Given the description of an element on the screen output the (x, y) to click on. 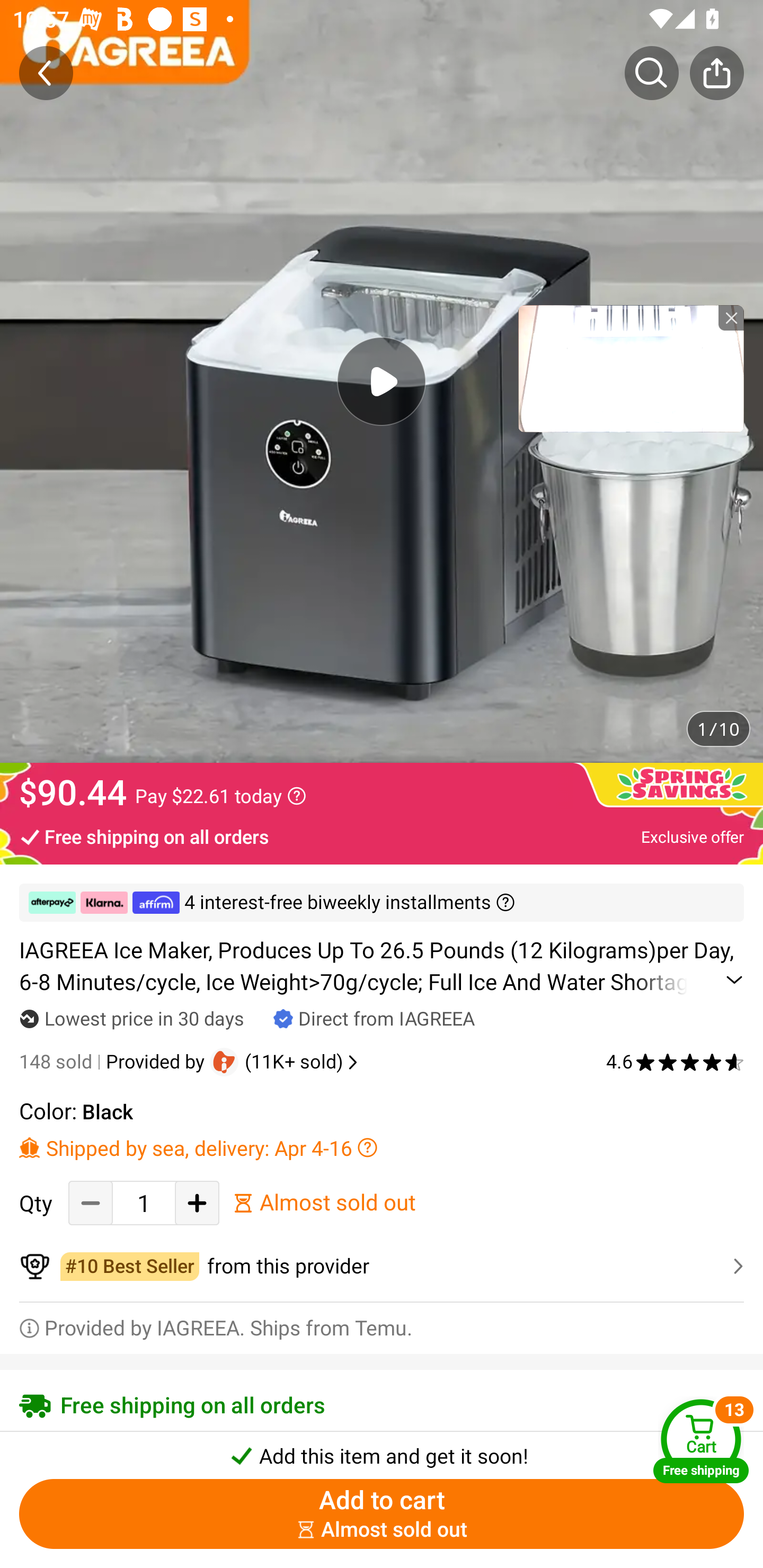
Back (46, 72)
Share (716, 72)
tronplayer_view (631, 368)
Pay $22.61 today   (220, 795)
Free shipping on all orders Exclusive offer (381, 836)
￼ ￼ ￼ 4 interest-free biweekly installments ￼ (381, 902)
148 sold Provided by  (114, 1061)
4.6 (674, 1061)
Shipped by sea, delivery: Apr 4-16 (381, 1147)
Decrease Quantity Button (90, 1202)
1 (143, 1202)
Add Quantity button (196, 1202)
￼￼from this provider (381, 1265)
Cart Free shipping Cart (701, 1440)
￼￼Add this item and get it soon!  (381, 1450)
Add to cart ￼￼Almost sold out (381, 1513)
